Given the description of an element on the screen output the (x, y) to click on. 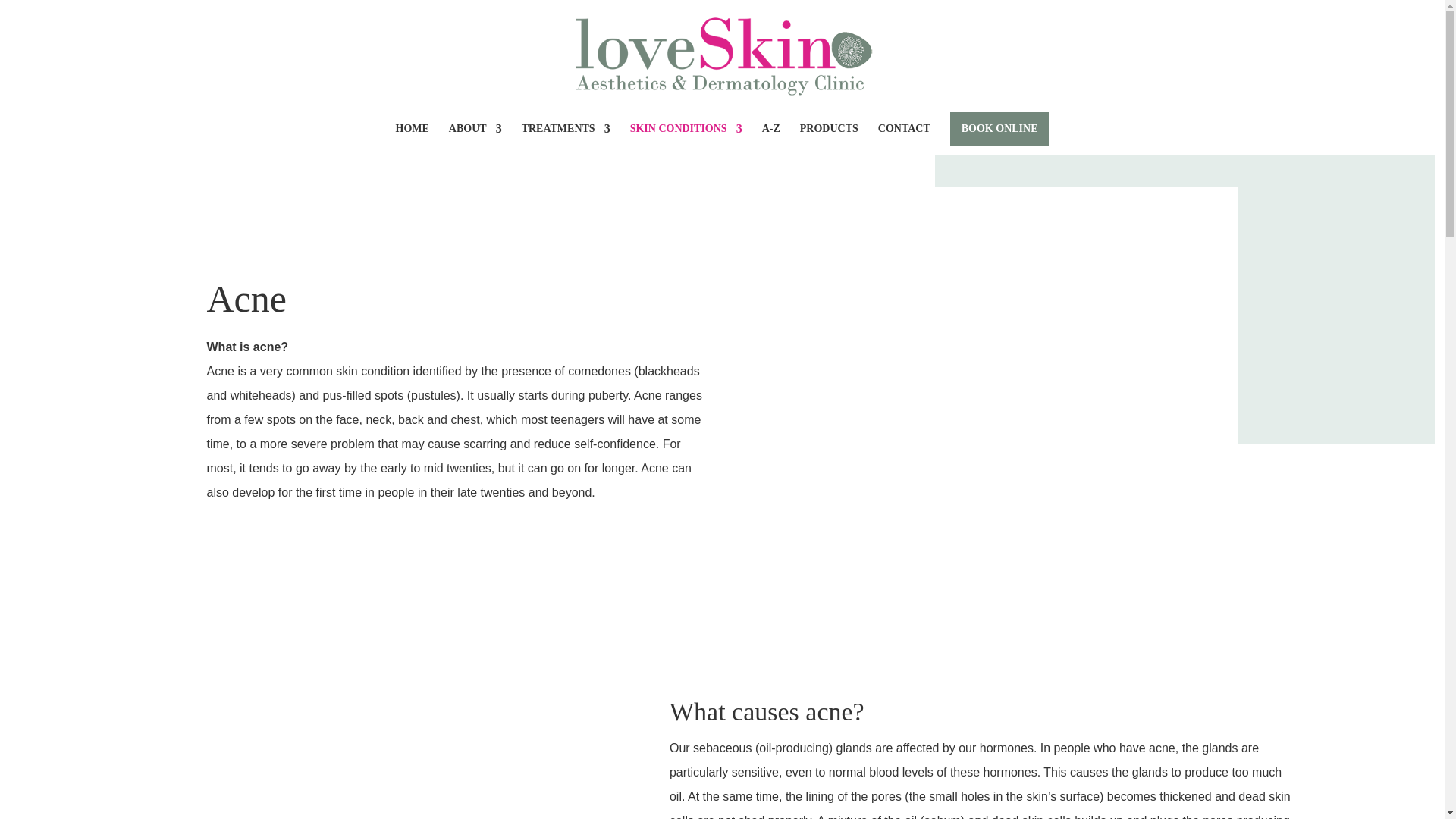
BOOK ONLINE (999, 128)
ABOUT (475, 138)
TREATMENTS (565, 138)
CONTACT (903, 138)
HOME (412, 138)
SKIN CONDITIONS (686, 138)
PRODUCTS (829, 138)
